Given the description of an element on the screen output the (x, y) to click on. 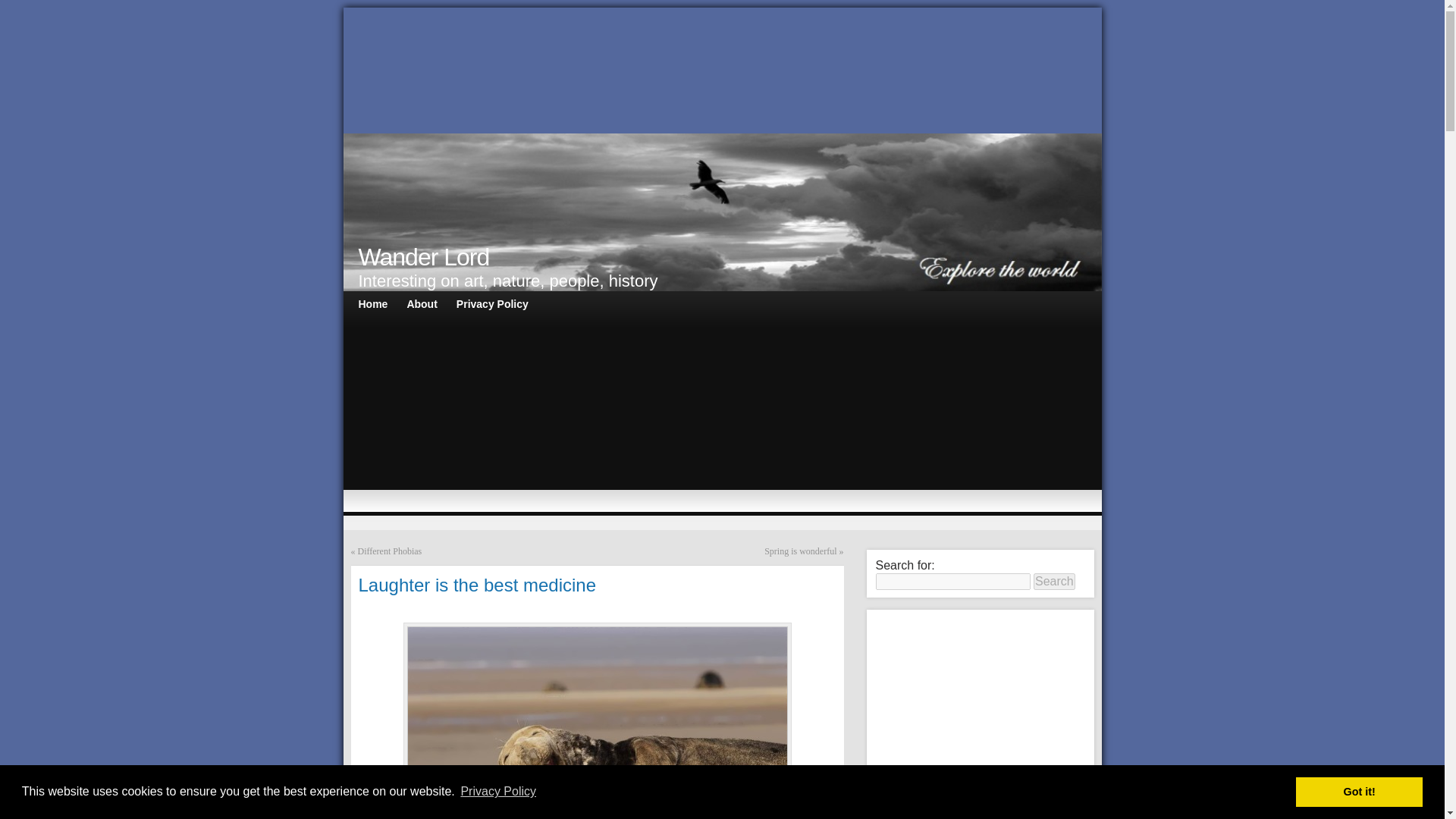
Got it! (1358, 791)
Advertisement (979, 718)
Privacy Policy (491, 304)
Privacy Policy (498, 791)
Wander Lord (423, 257)
Search (1054, 581)
Different Phobias (390, 551)
Spring is wonderful (799, 551)
About (421, 304)
Search (1054, 581)
Home (372, 304)
